Given the description of an element on the screen output the (x, y) to click on. 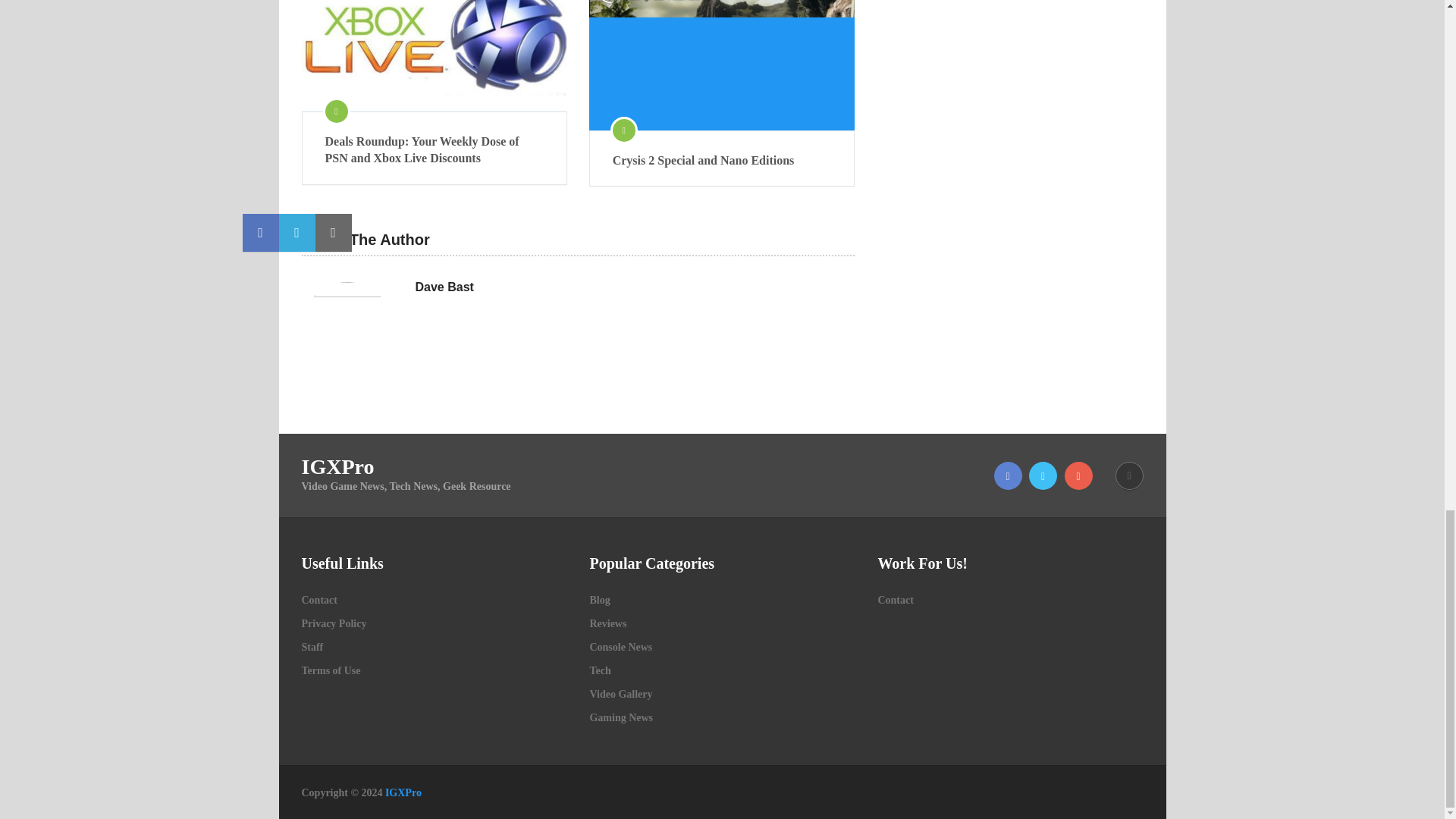
Crysis 2 Special and Nano Editions (721, 65)
 Video Game News, Tech News, Geek Resource (403, 792)
Crysis 2 Special and Nano Editions (721, 160)
